Given the description of an element on the screen output the (x, y) to click on. 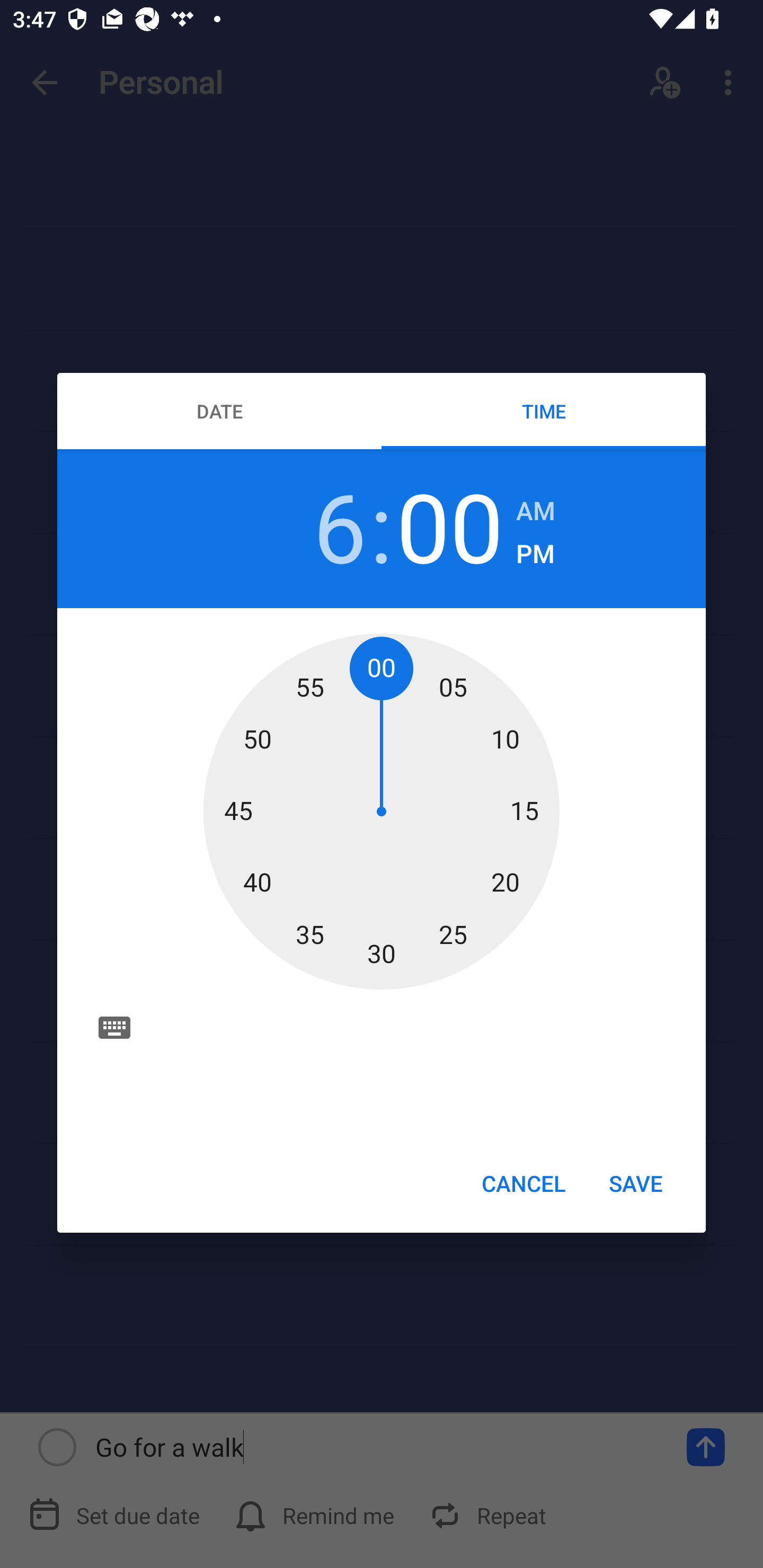
SAVE (635, 1182)
